Given the description of an element on the screen output the (x, y) to click on. 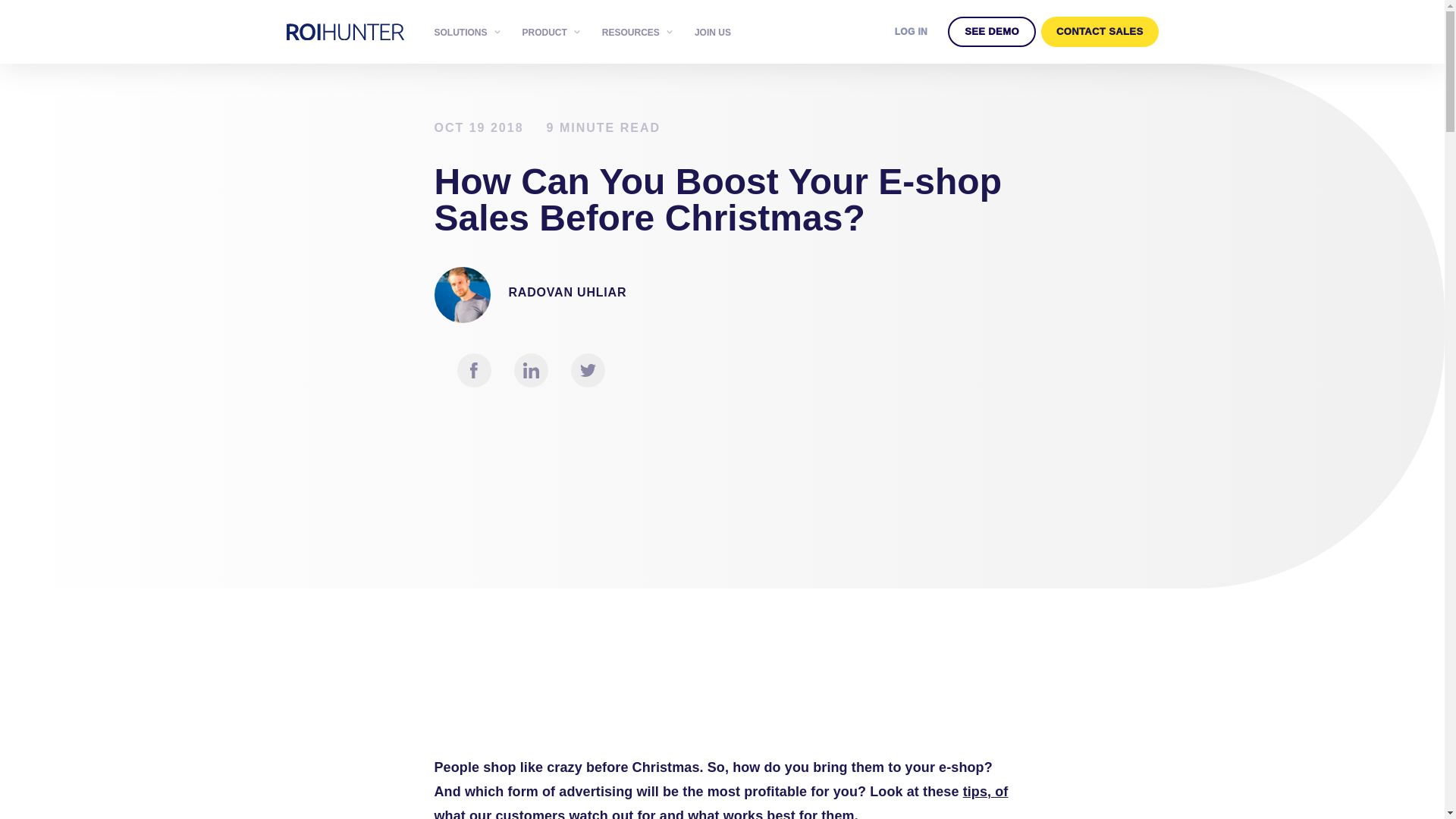
CONTACT SALES (1099, 31)
LOG IN (911, 31)
JOIN US (718, 32)
SEE DEMO (991, 31)
